Given the description of an element on the screen output the (x, y) to click on. 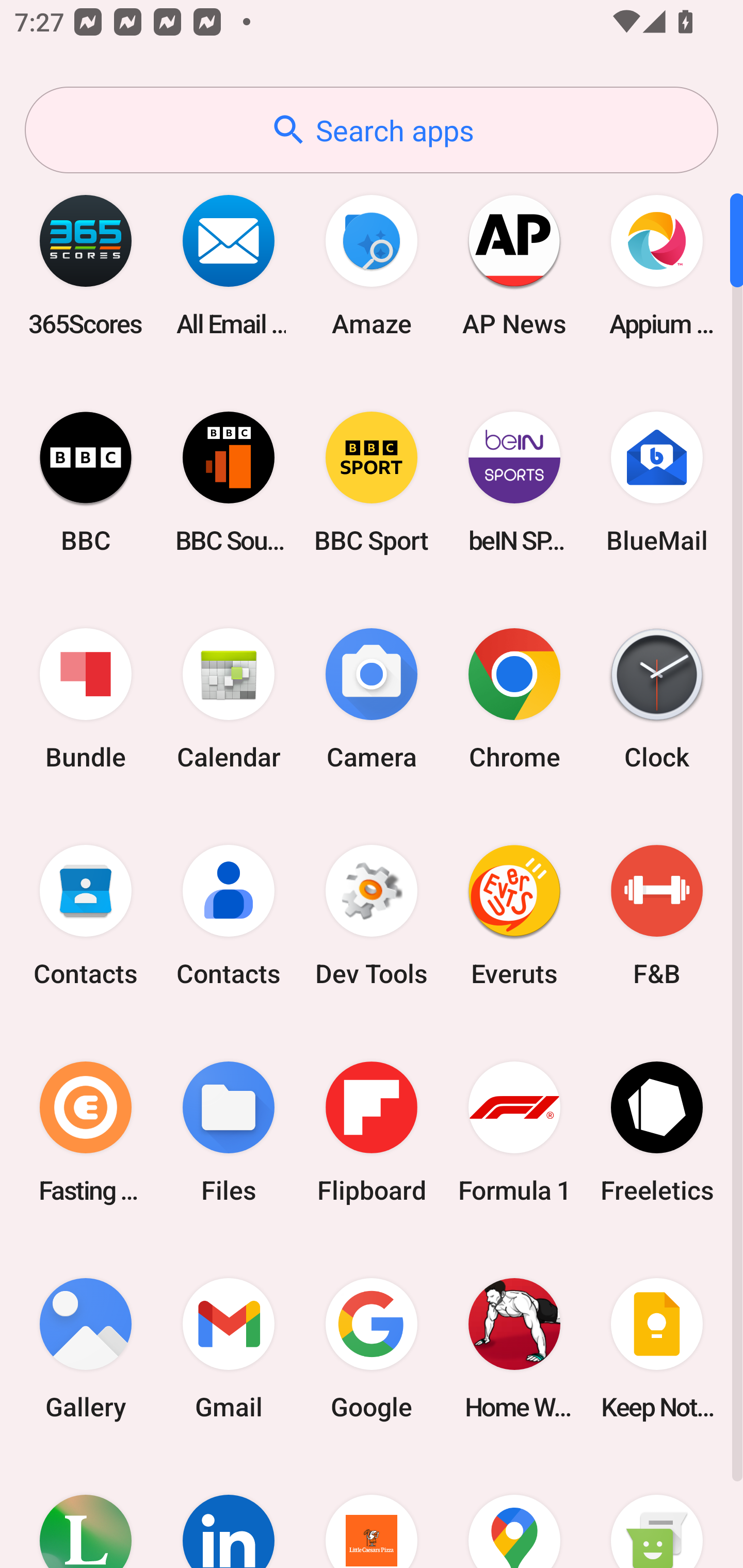
  Search apps (371, 130)
365Scores (85, 264)
All Email Connect (228, 264)
Amaze (371, 264)
AP News (514, 264)
Appium Settings (656, 264)
BBC (85, 482)
BBC Sounds (228, 482)
BBC Sport (371, 482)
beIN SPORTS (514, 482)
BlueMail (656, 482)
Bundle (85, 699)
Calendar (228, 699)
Camera (371, 699)
Chrome (514, 699)
Clock (656, 699)
Contacts (85, 915)
Contacts (228, 915)
Dev Tools (371, 915)
Everuts (514, 915)
F&B (656, 915)
Fasting Coach (85, 1131)
Files (228, 1131)
Flipboard (371, 1131)
Formula 1 (514, 1131)
Freeletics (656, 1131)
Gallery (85, 1348)
Gmail (228, 1348)
Google (371, 1348)
Home Workout (514, 1348)
Keep Notes (656, 1348)
Lifesum (85, 1512)
LinkedIn (228, 1512)
Little Caesars Pizza (371, 1512)
Maps (514, 1512)
Messaging (656, 1512)
